Given the description of an element on the screen output the (x, y) to click on. 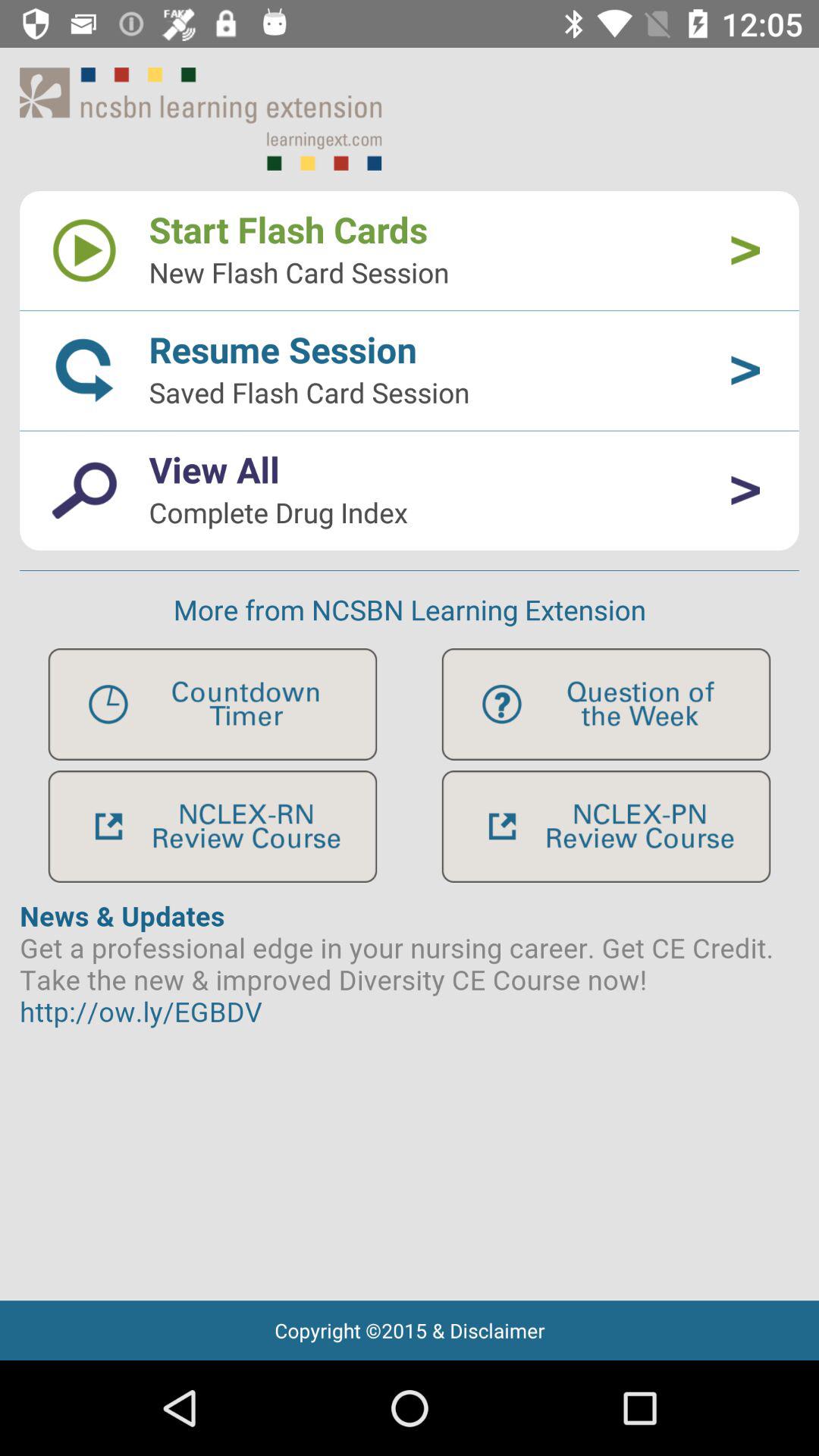
advertisement (409, 1091)
